Given the description of an element on the screen output the (x, y) to click on. 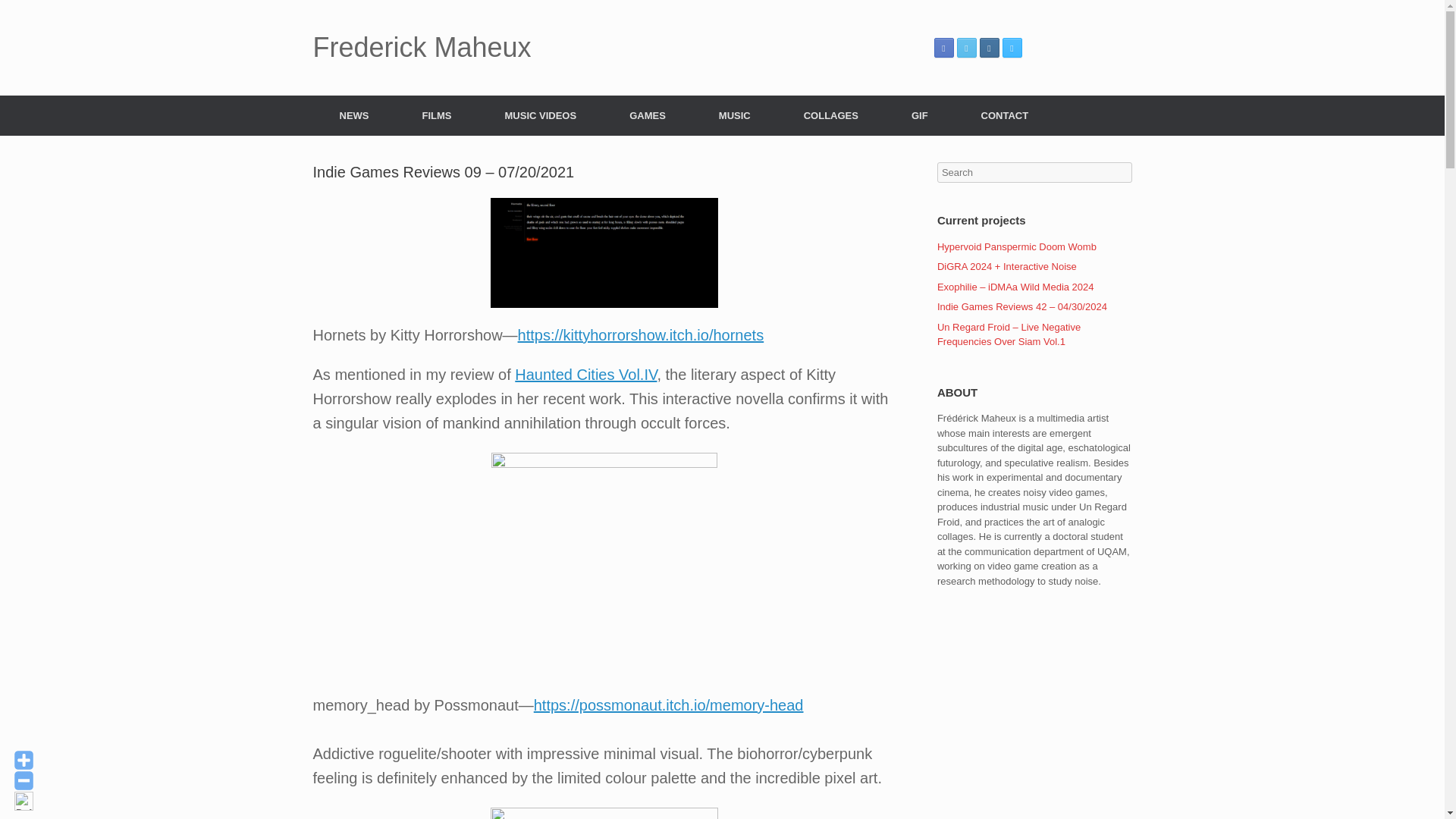
Frederick Maheux (422, 47)
GAMES (647, 115)
GIF (920, 115)
MUSIC (735, 115)
Frederick Maheux Instagram (988, 47)
NEWS (353, 115)
COLLAGES (831, 115)
Haunted Cities Vol.IV (585, 374)
Frederick Maheux Twitter (966, 47)
Default font size (23, 800)
